Given the description of an element on the screen output the (x, y) to click on. 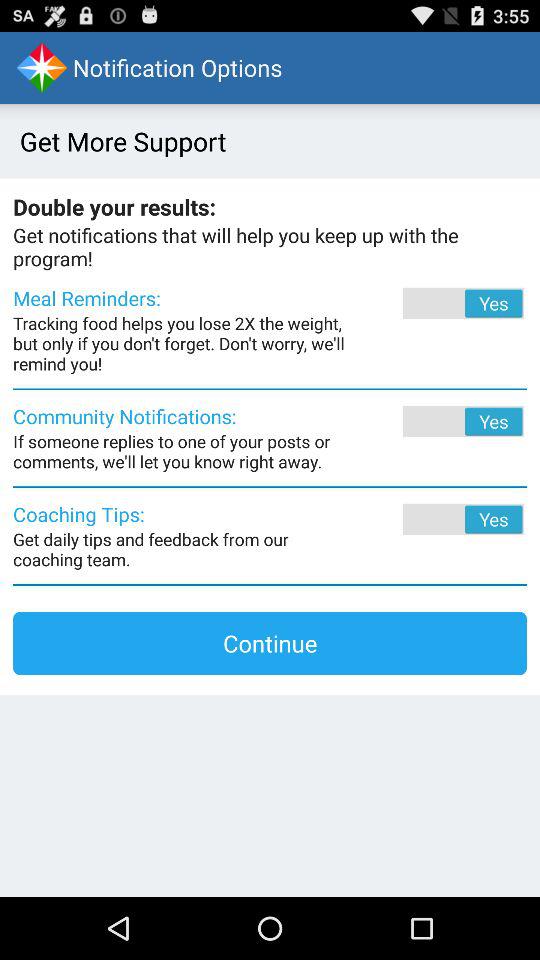
turn on item next to coaching tips: item (436, 519)
